Given the description of an element on the screen output the (x, y) to click on. 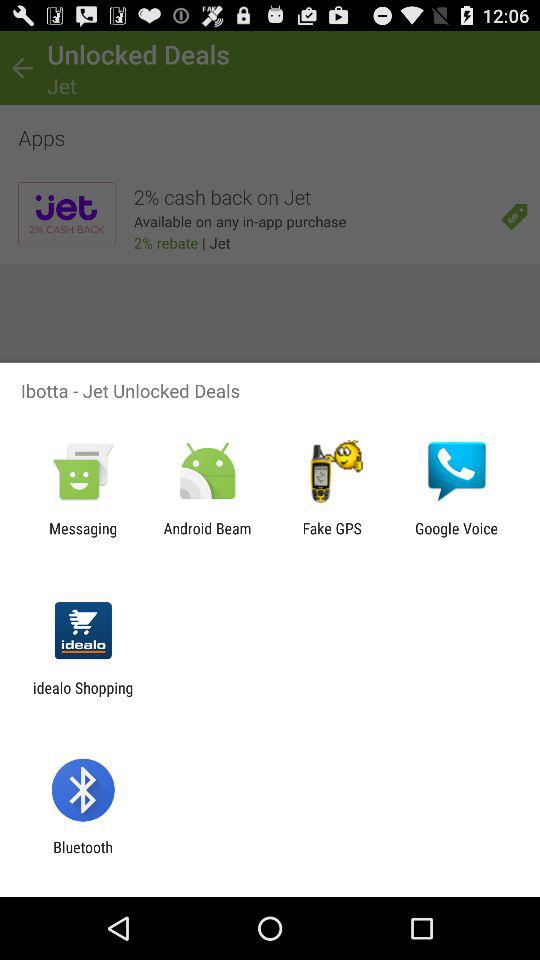
scroll to the idealo shopping item (83, 696)
